Given the description of an element on the screen output the (x, y) to click on. 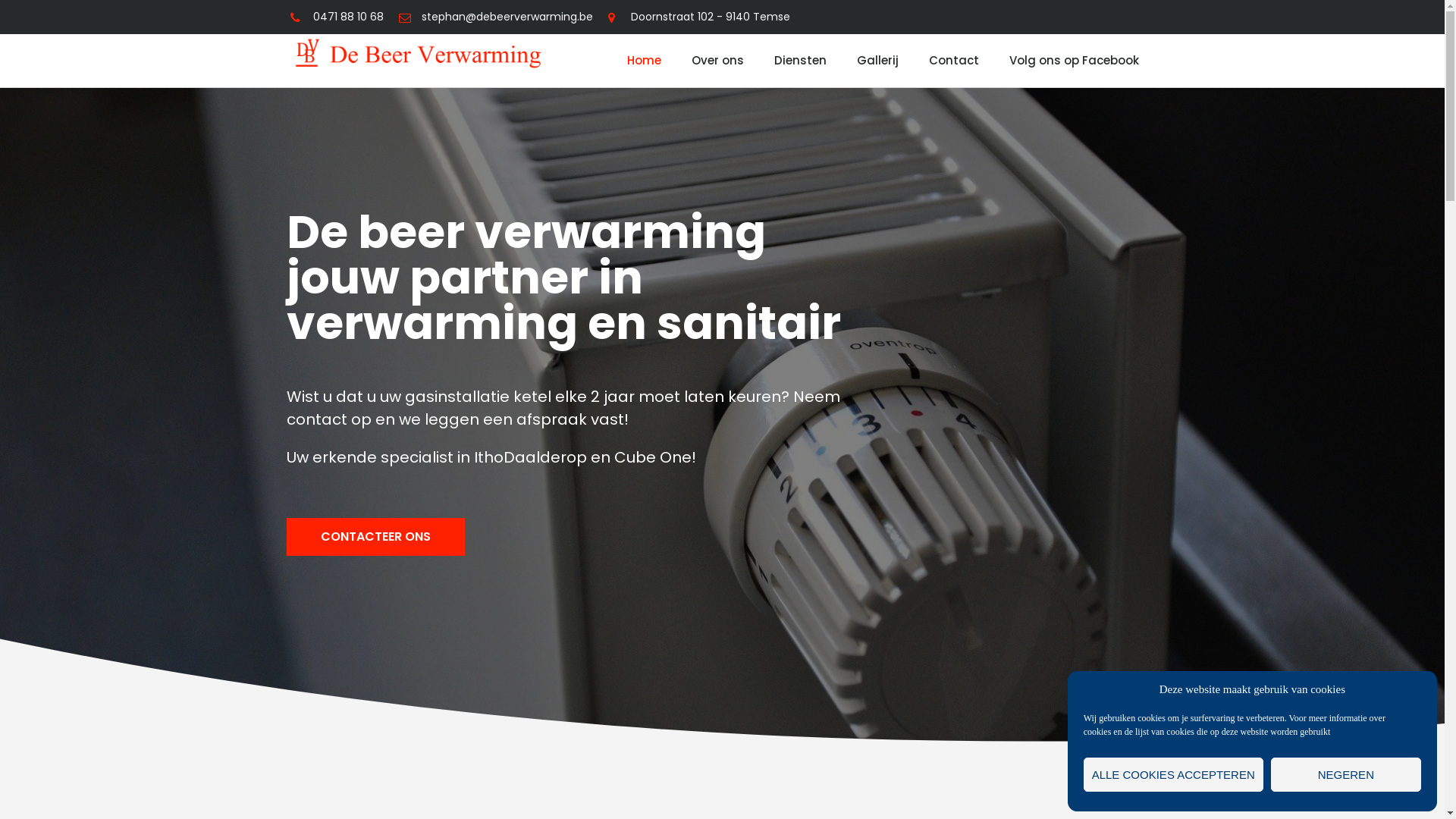
Home Element type: text (643, 60)
Gallerij Element type: text (877, 60)
Over ons Element type: text (717, 60)
ALLE COOKIES ACCEPTEREN Element type: text (1173, 774)
Diensten Element type: text (800, 60)
0471 88 10 68 Element type: text (335, 17)
Volg ons op Facebook Element type: text (1074, 60)
NEGEREN Element type: text (1345, 774)
CONTACTEER ONS Element type: text (375, 536)
stephan@debeerverwarming.be Element type: text (495, 17)
Contact Element type: text (953, 60)
